Given the description of an element on the screen output the (x, y) to click on. 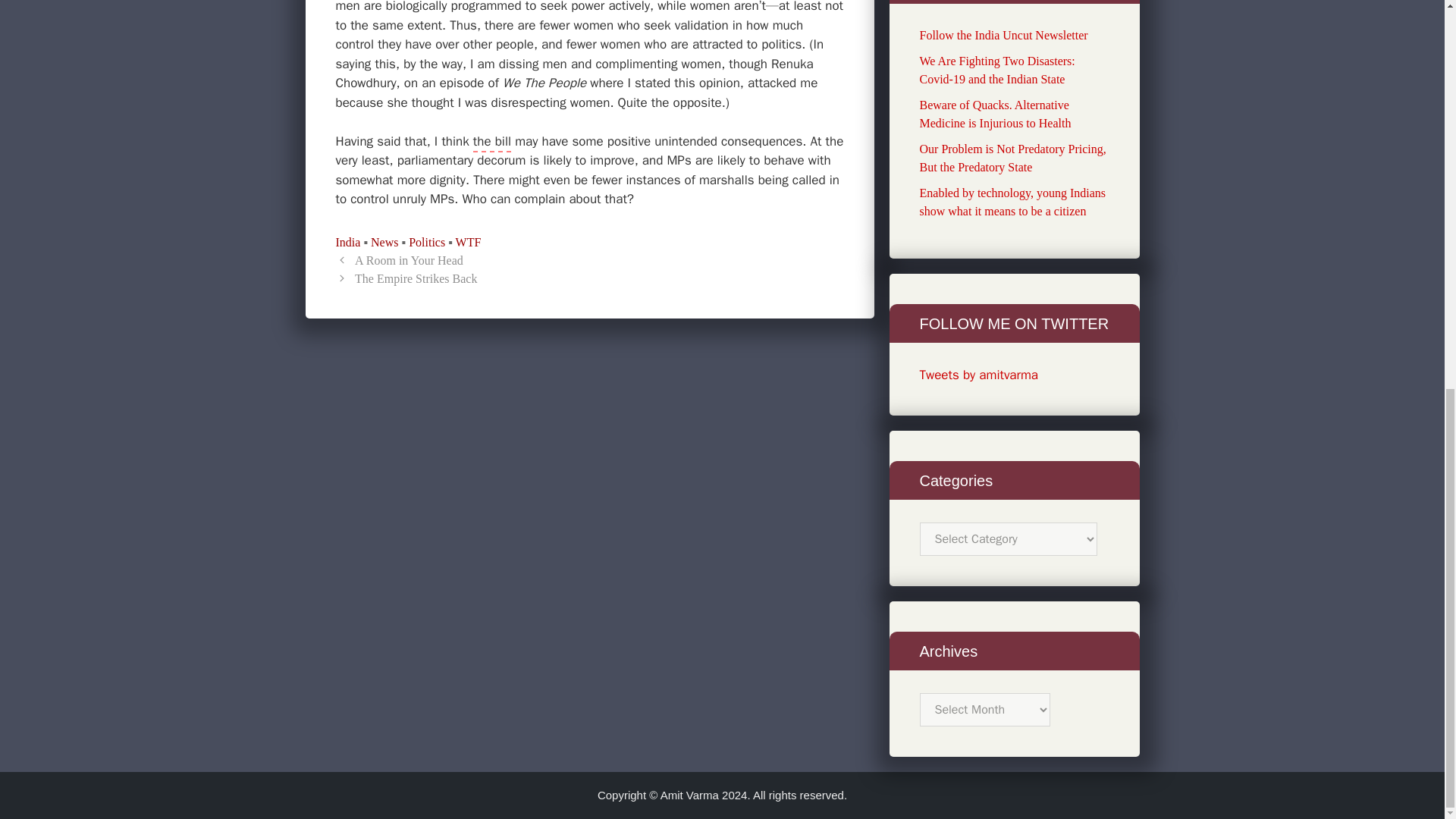
Follow the India Uncut Newsletter (1002, 34)
Rajya Sabha passes historic Women's Reservation Bill (492, 142)
WTF (468, 241)
A Room in Your Head (409, 259)
India (346, 241)
the bill (492, 142)
Scroll back to top (1406, 798)
